Given the description of an element on the screen output the (x, y) to click on. 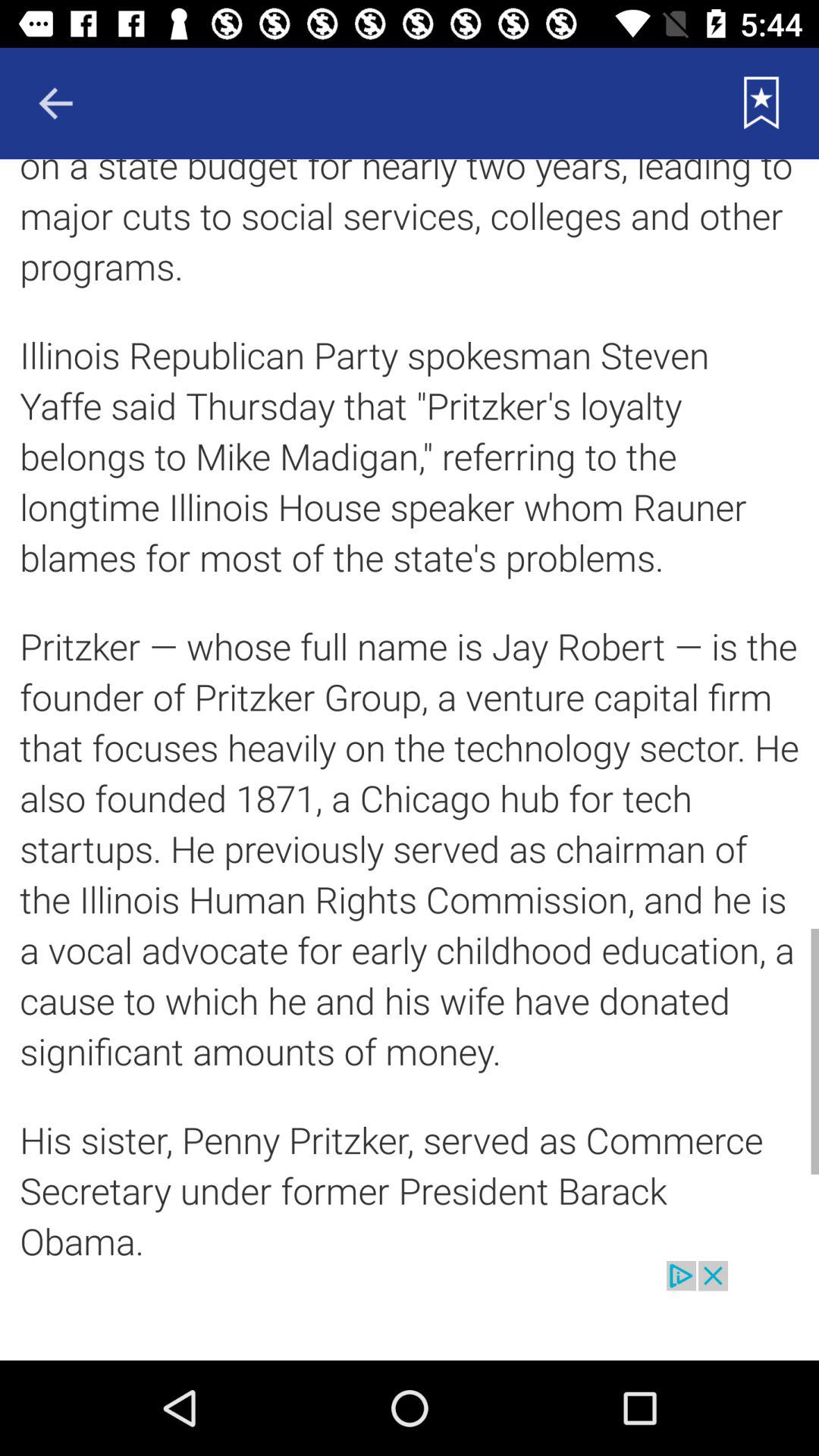
advertisement (409, 1310)
